Given the description of an element on the screen output the (x, y) to click on. 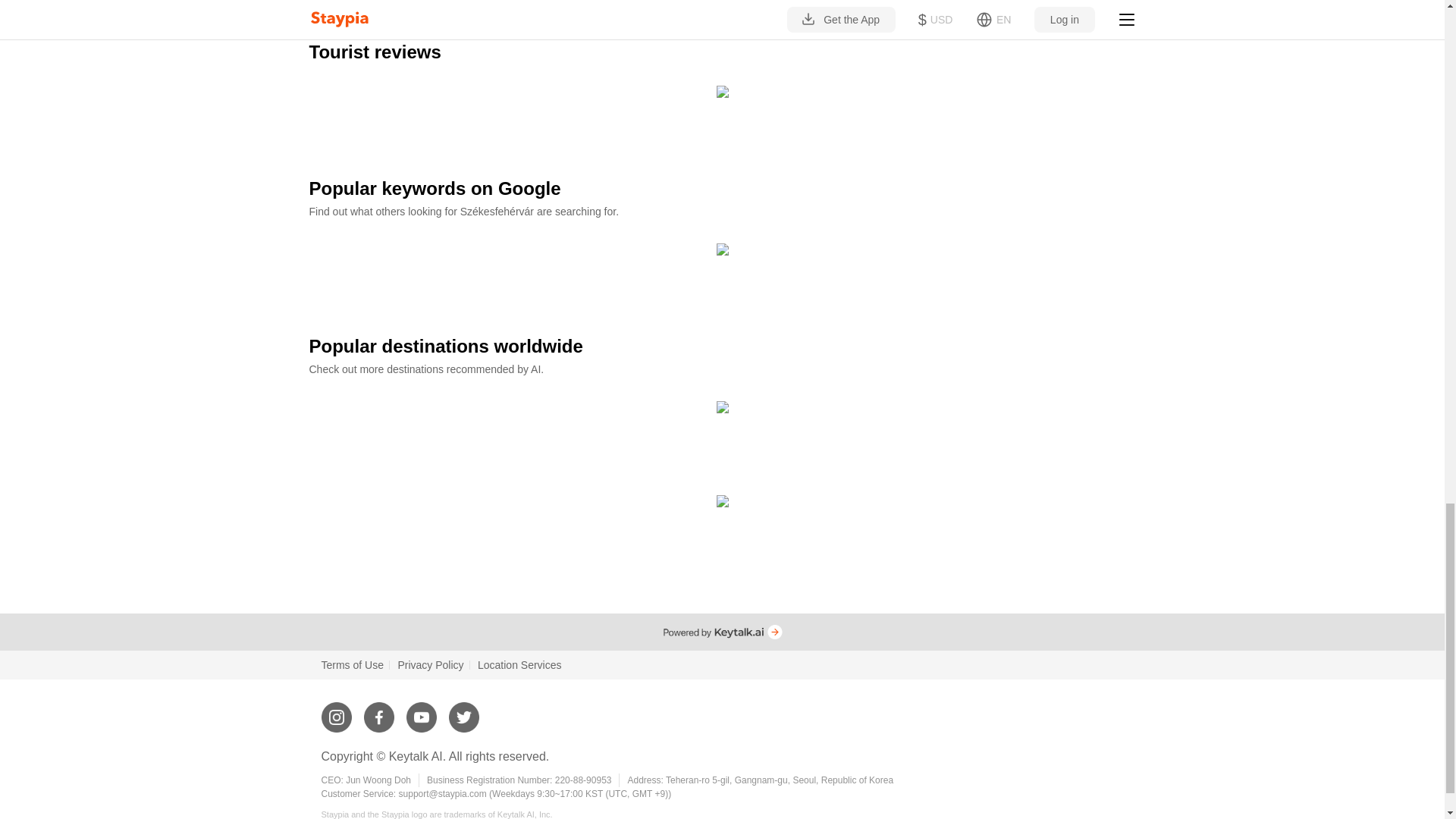
youtube (421, 710)
Privacy Policy (430, 664)
Location Services (519, 664)
twitter (463, 710)
instagram (336, 710)
Terms of Use (352, 664)
facebook (379, 710)
